Given the description of an element on the screen output the (x, y) to click on. 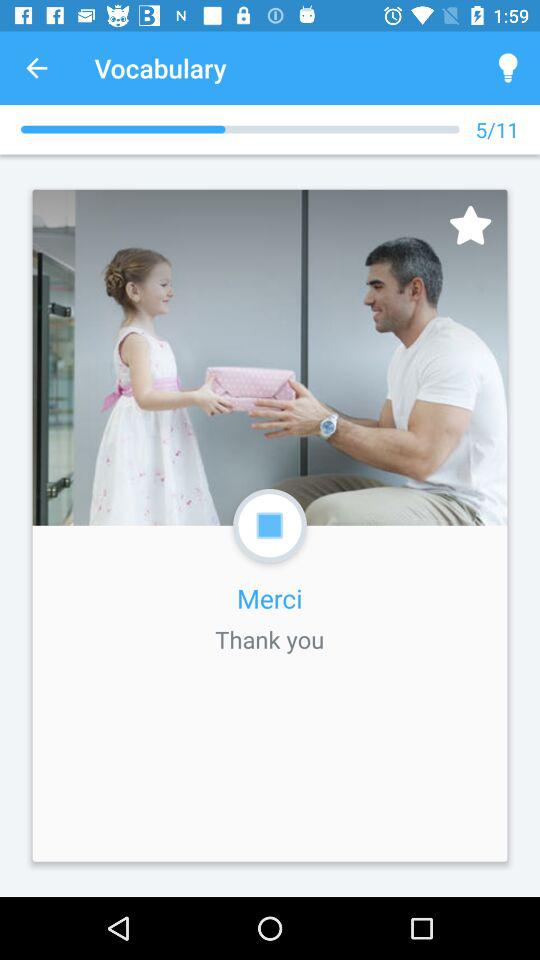
favorite this image (470, 224)
